Given the description of an element on the screen output the (x, y) to click on. 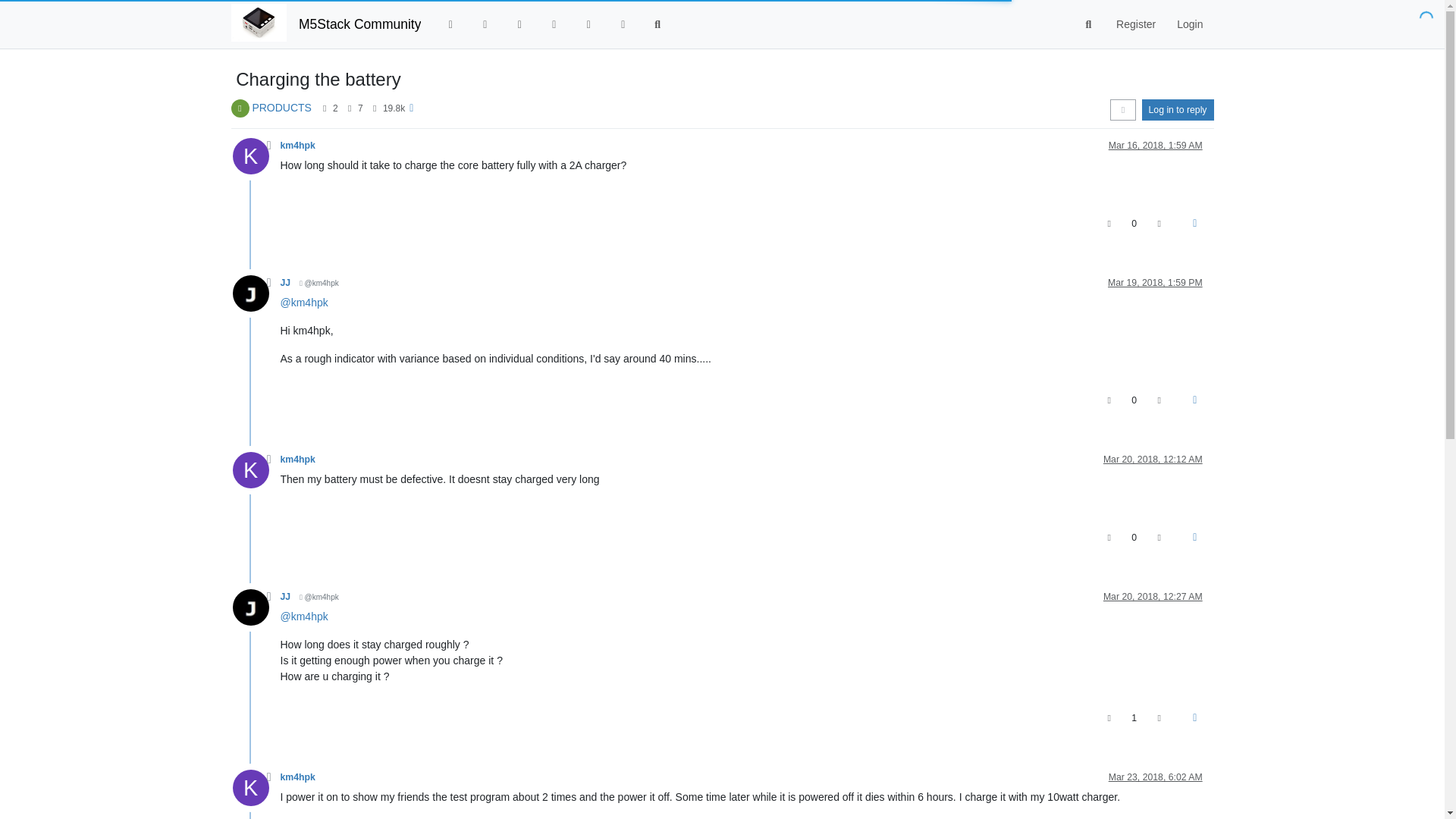
Register (1135, 24)
Tags (519, 24)
Users (587, 24)
Search (657, 24)
Search (1088, 24)
Categories (449, 24)
PRODUCTS (281, 107)
M5Stack Community (359, 24)
Groups (622, 24)
Recent (484, 24)
